Given the description of an element on the screen output the (x, y) to click on. 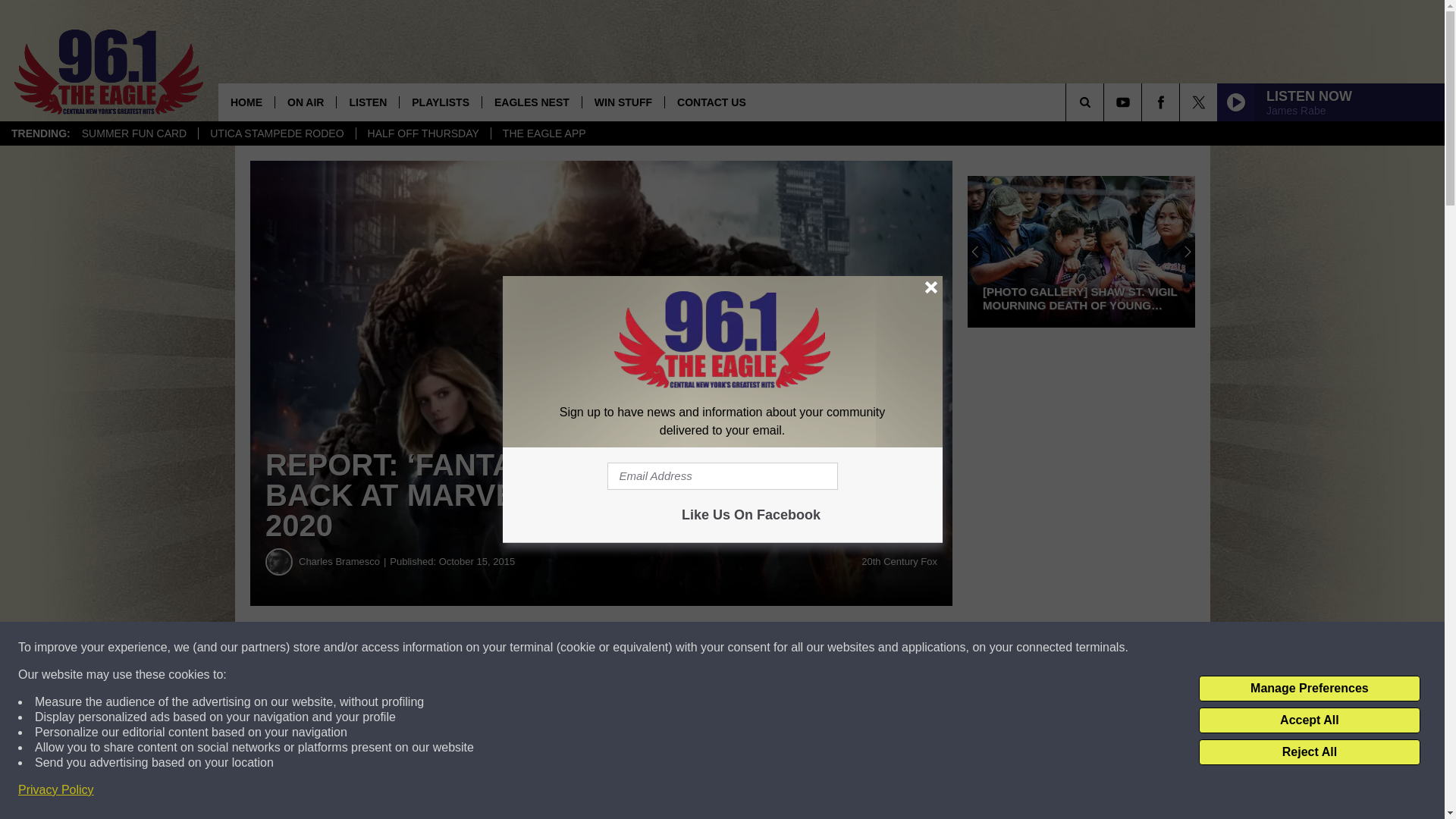
SUMMER FUN CARD (133, 133)
Share on Facebook (460, 647)
Email Address (722, 475)
ON AIR (305, 102)
Accept All (1309, 720)
SEARCH (1106, 102)
UTICA STAMPEDE RODEO (276, 133)
Manage Preferences (1309, 688)
CONTACT US (710, 102)
WIN STUFF (621, 102)
EAGLES NEST (530, 102)
HALF OFF THURSDAY (422, 133)
Privacy Policy (55, 789)
PLAYLISTS (439, 102)
Reject All (1309, 751)
